Given the description of an element on the screen output the (x, y) to click on. 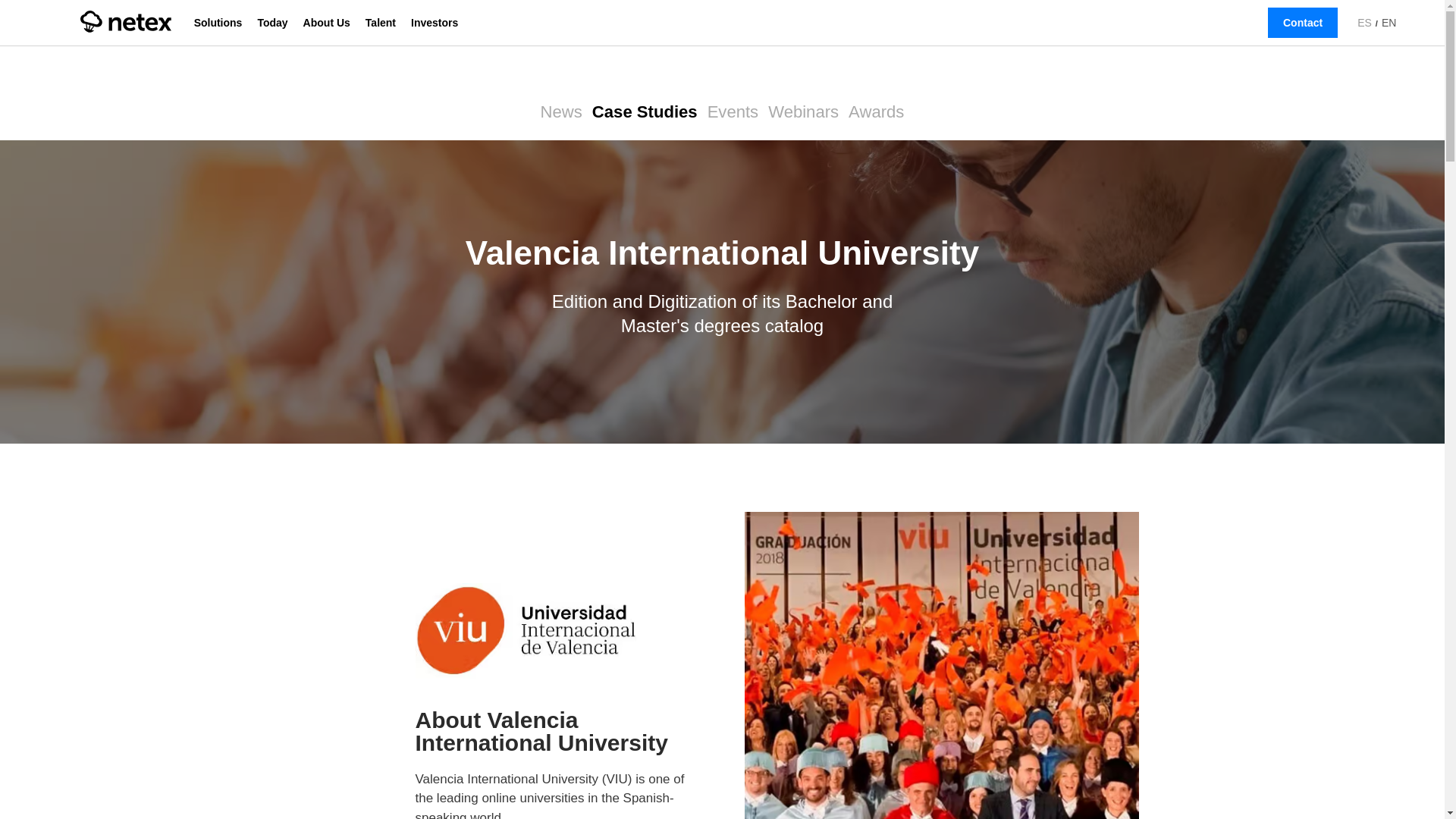
Investors (434, 22)
ES (1364, 23)
Webinars (803, 112)
Events (732, 112)
News (561, 112)
Today (271, 22)
Case Studies (644, 112)
About Us (326, 22)
Solutions (218, 22)
Contact (1303, 22)
EN (1388, 22)
Talent (380, 22)
Awards (876, 112)
